Given the description of an element on the screen output the (x, y) to click on. 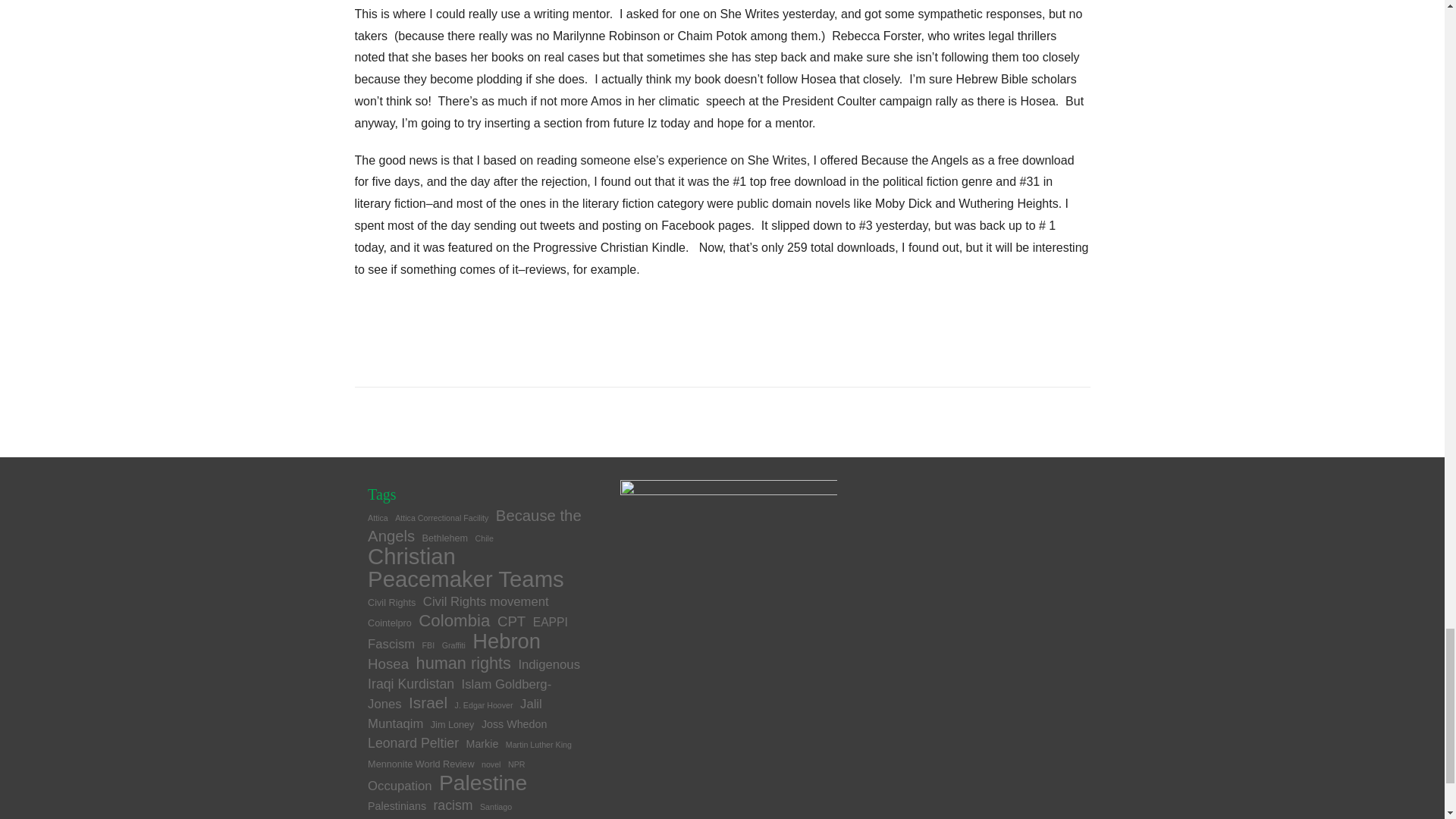
Chile (484, 537)
human rights (463, 662)
Graffiti (453, 645)
Indigenous (548, 664)
Cointelpro (390, 623)
EAPPI (549, 621)
FBI (428, 645)
Hosea (388, 663)
Christian Peacemaker Teams (466, 567)
Attica Correctional Facility (440, 517)
CPT (511, 621)
Civil Rights movement (485, 601)
Civil Rights (391, 602)
Hebron (505, 640)
Bethlehem (445, 538)
